Given the description of an element on the screen output the (x, y) to click on. 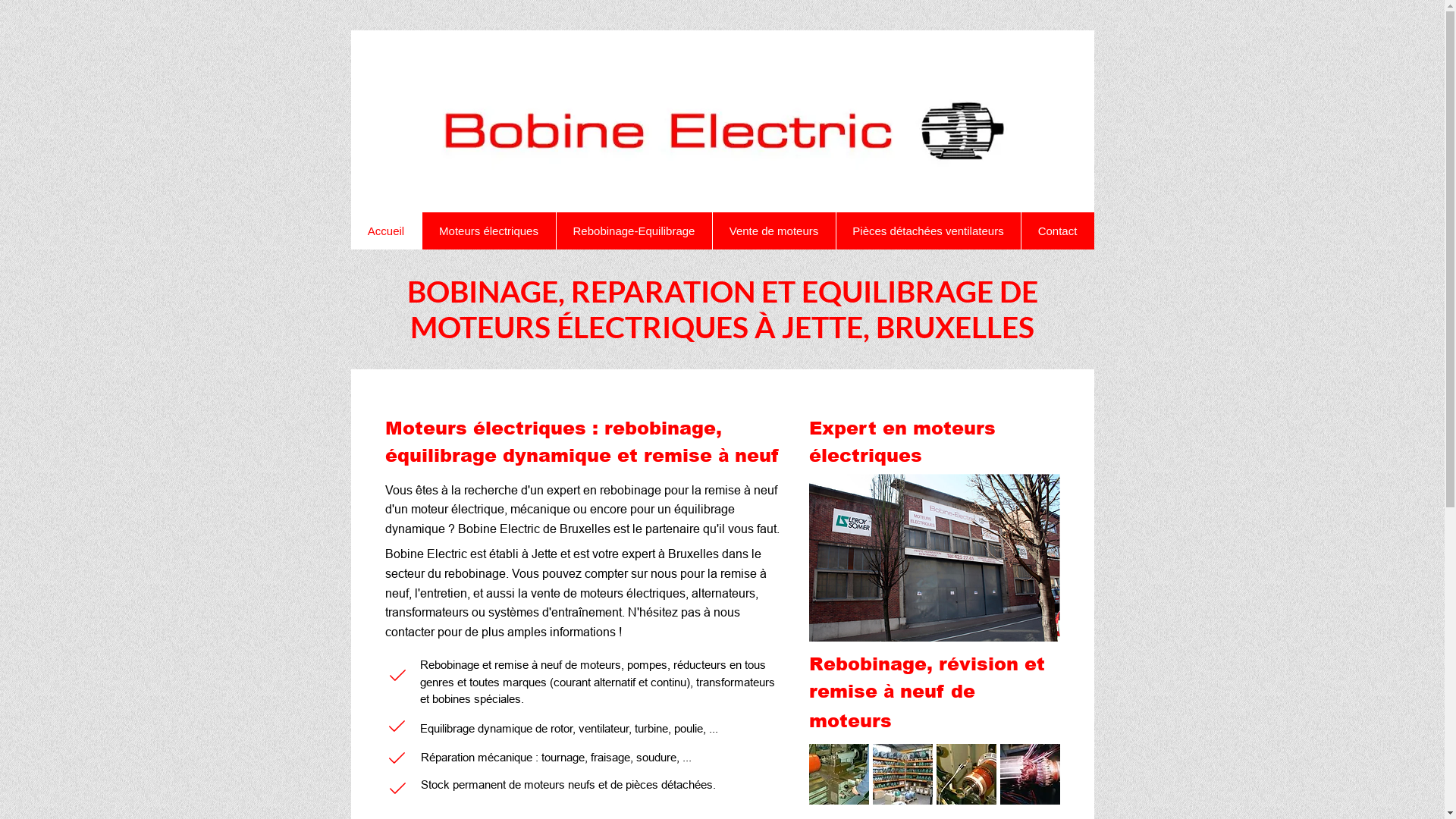
Contact Element type: text (1057, 230)
Accueil Element type: text (385, 230)
Vente de moteurs Element type: text (772, 230)
Rebobinage-Equilibrage Element type: text (633, 230)
